Given the description of an element on the screen output the (x, y) to click on. 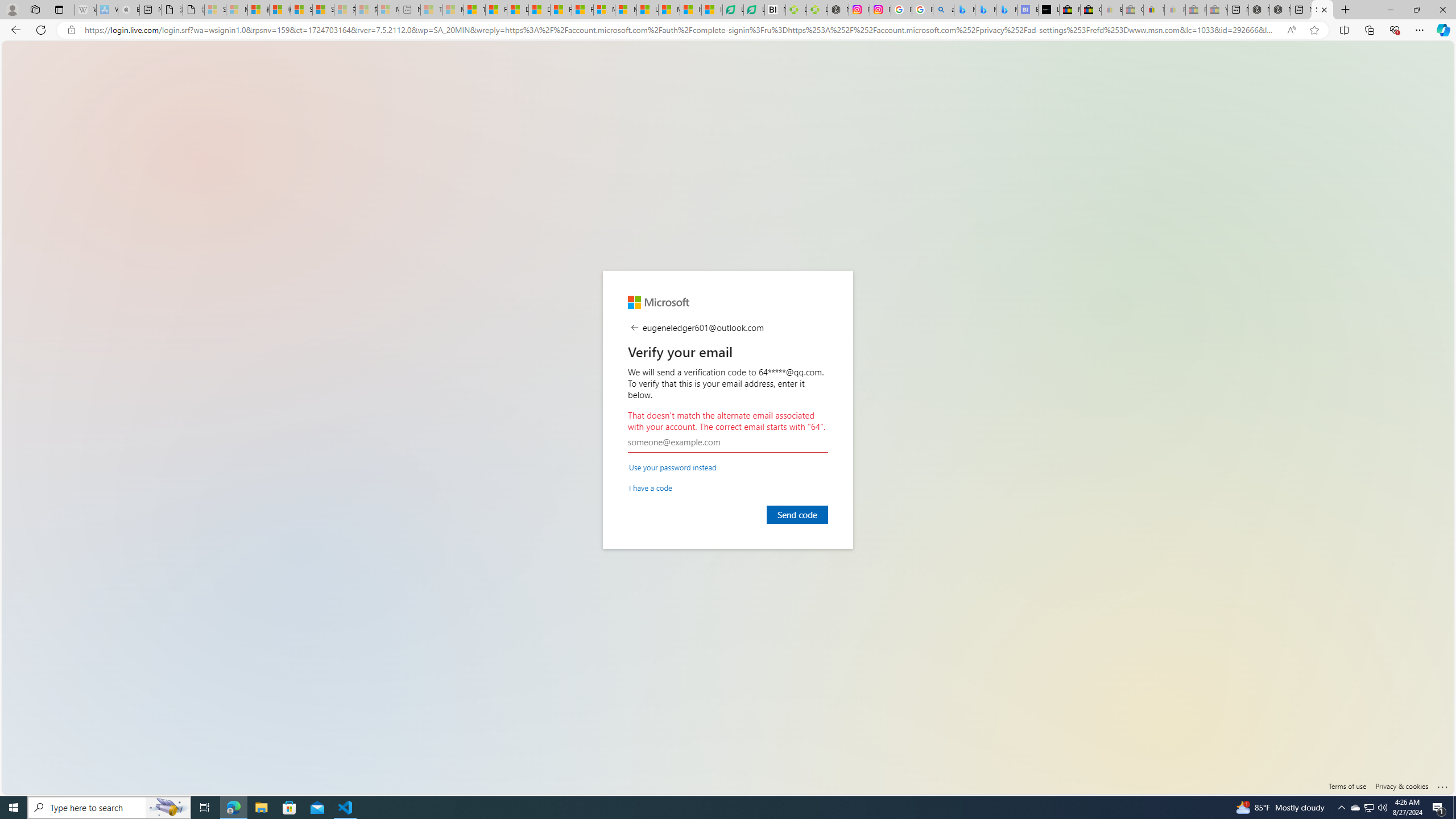
Marine life - MSN - Sleeping (452, 9)
Microsoft Services Agreement - Sleeping (236, 9)
Drinking tea every day is proven to delay biological aging (539, 9)
Microsoft Bing Travel - Shangri-La Hotel Bangkok (1006, 9)
I have a code (650, 487)
Buy iPad - Apple - Sleeping (128, 9)
